Given the description of an element on the screen output the (x, y) to click on. 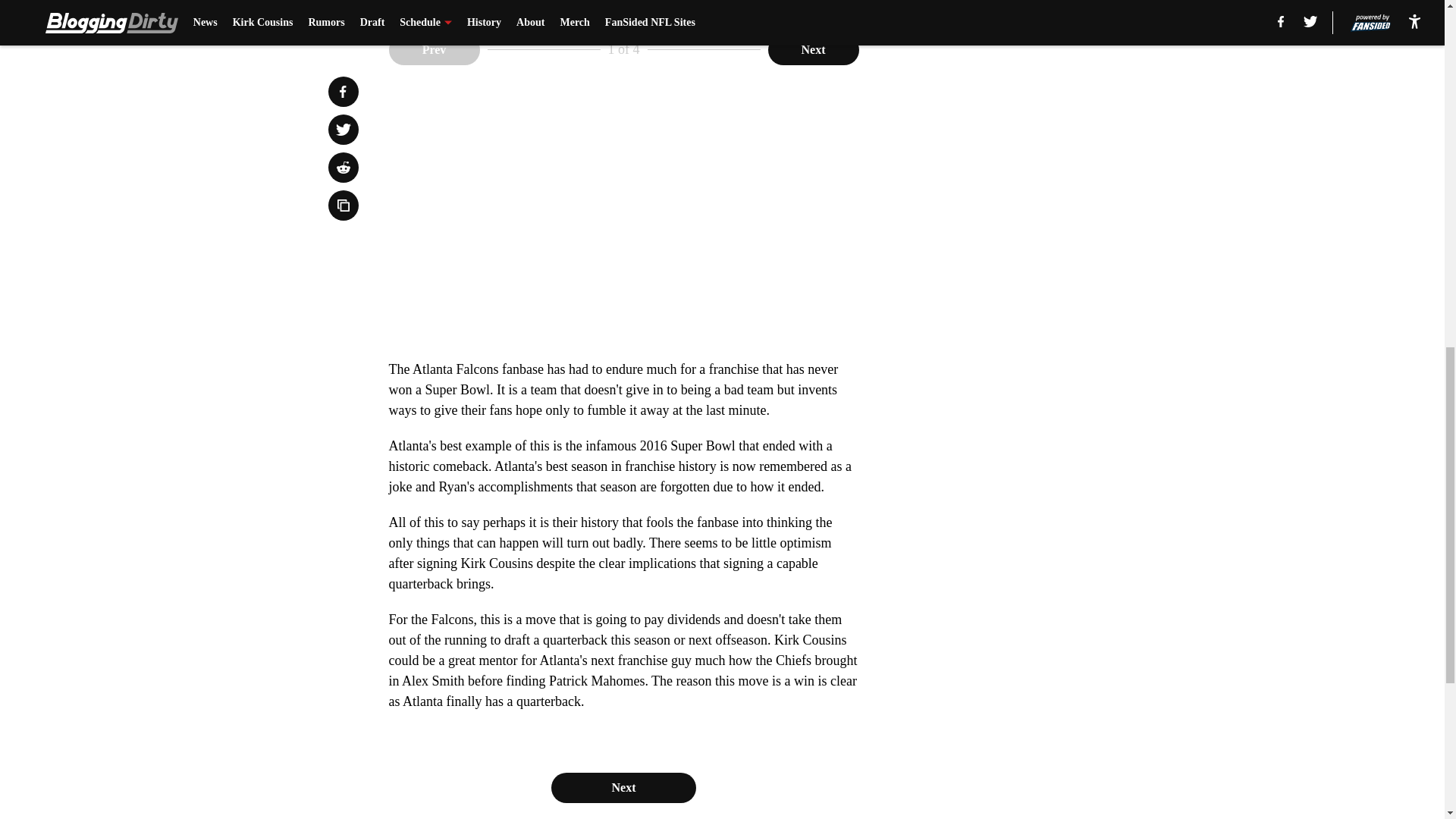
Prev (433, 50)
Next (813, 50)
Next (622, 788)
